Given the description of an element on the screen output the (x, y) to click on. 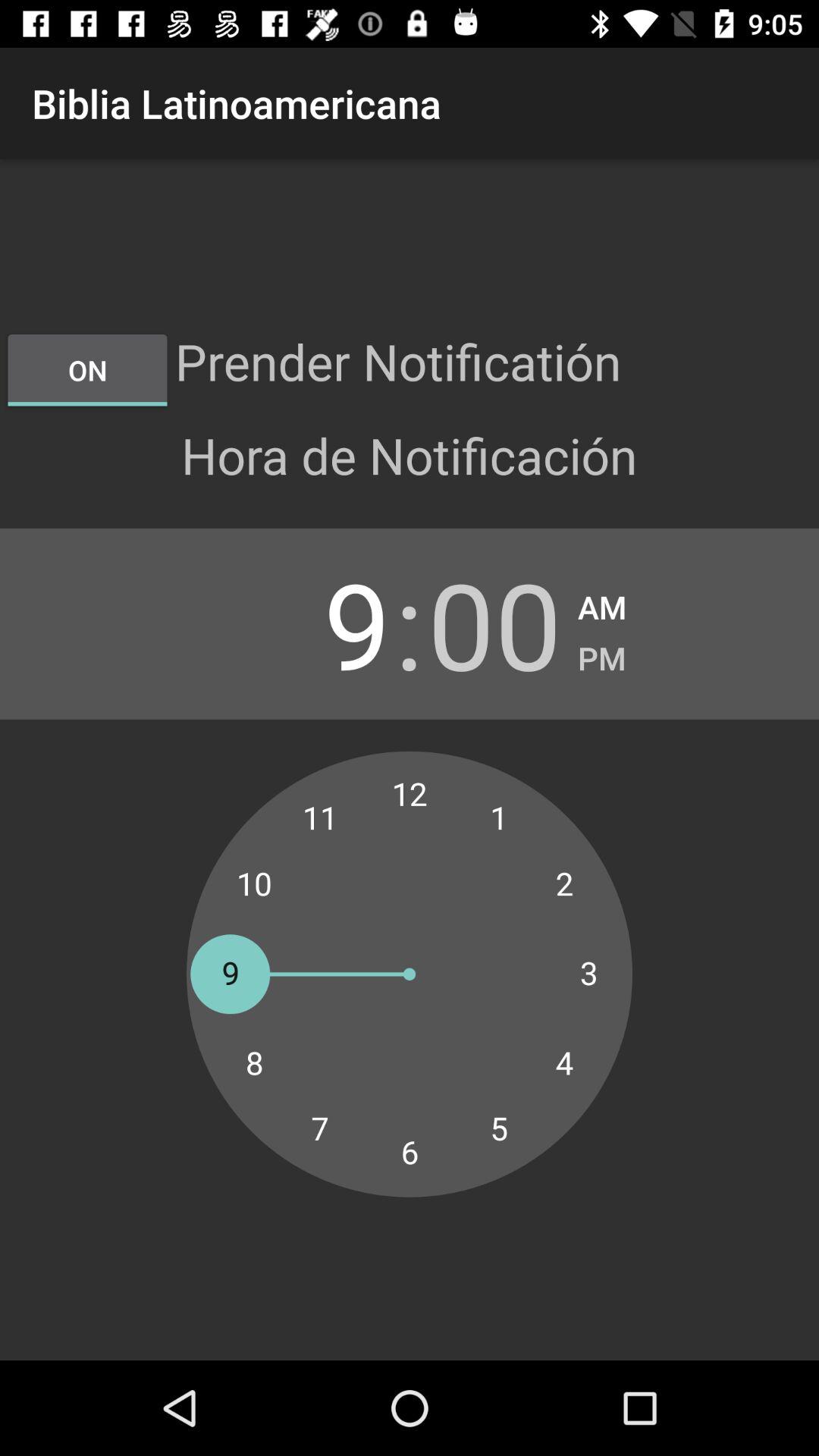
click the item above pm checkbox (601, 602)
